Given the description of an element on the screen output the (x, y) to click on. 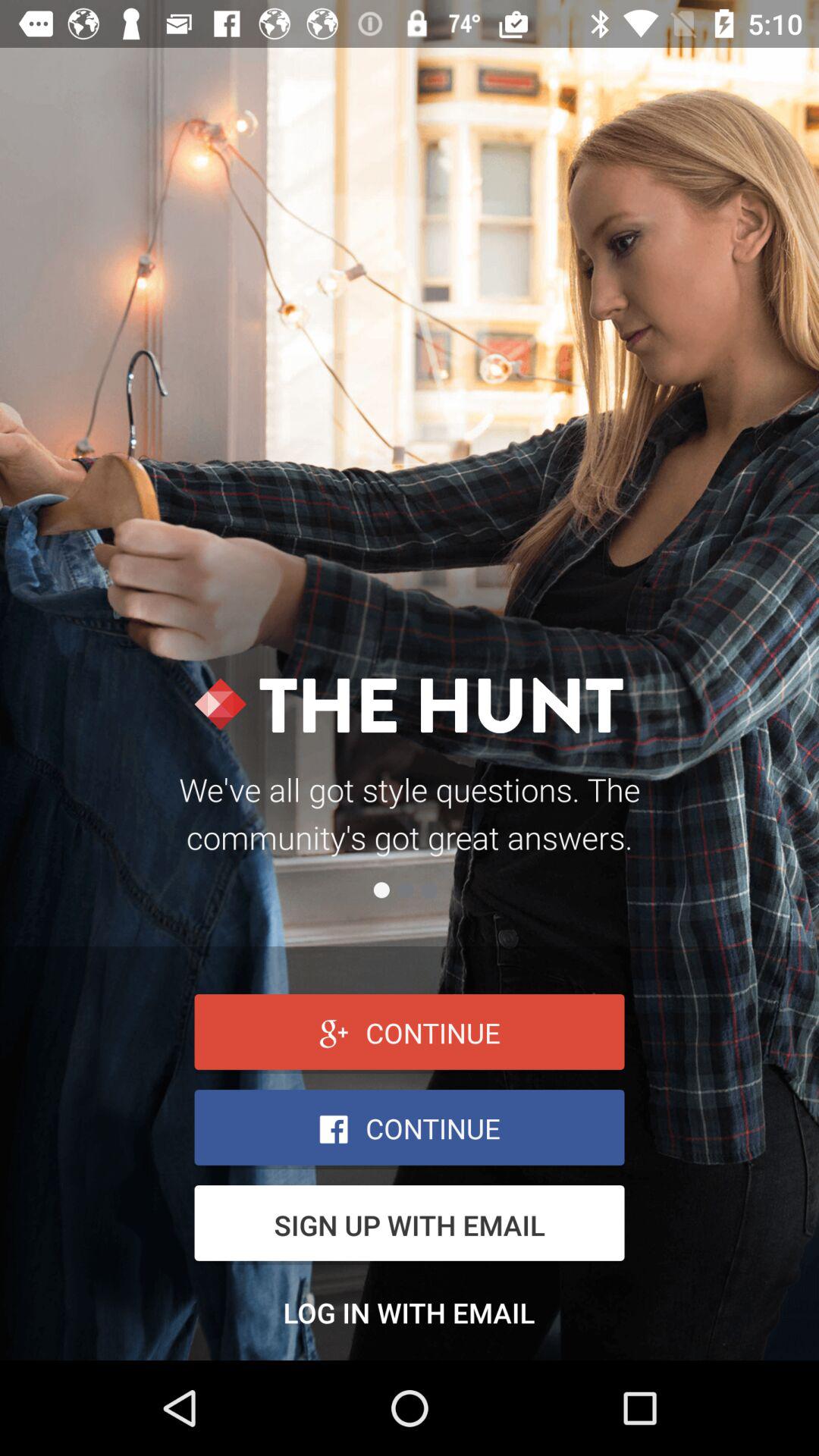
continue with google+ (409, 1033)
